Given the description of an element on the screen output the (x, y) to click on. 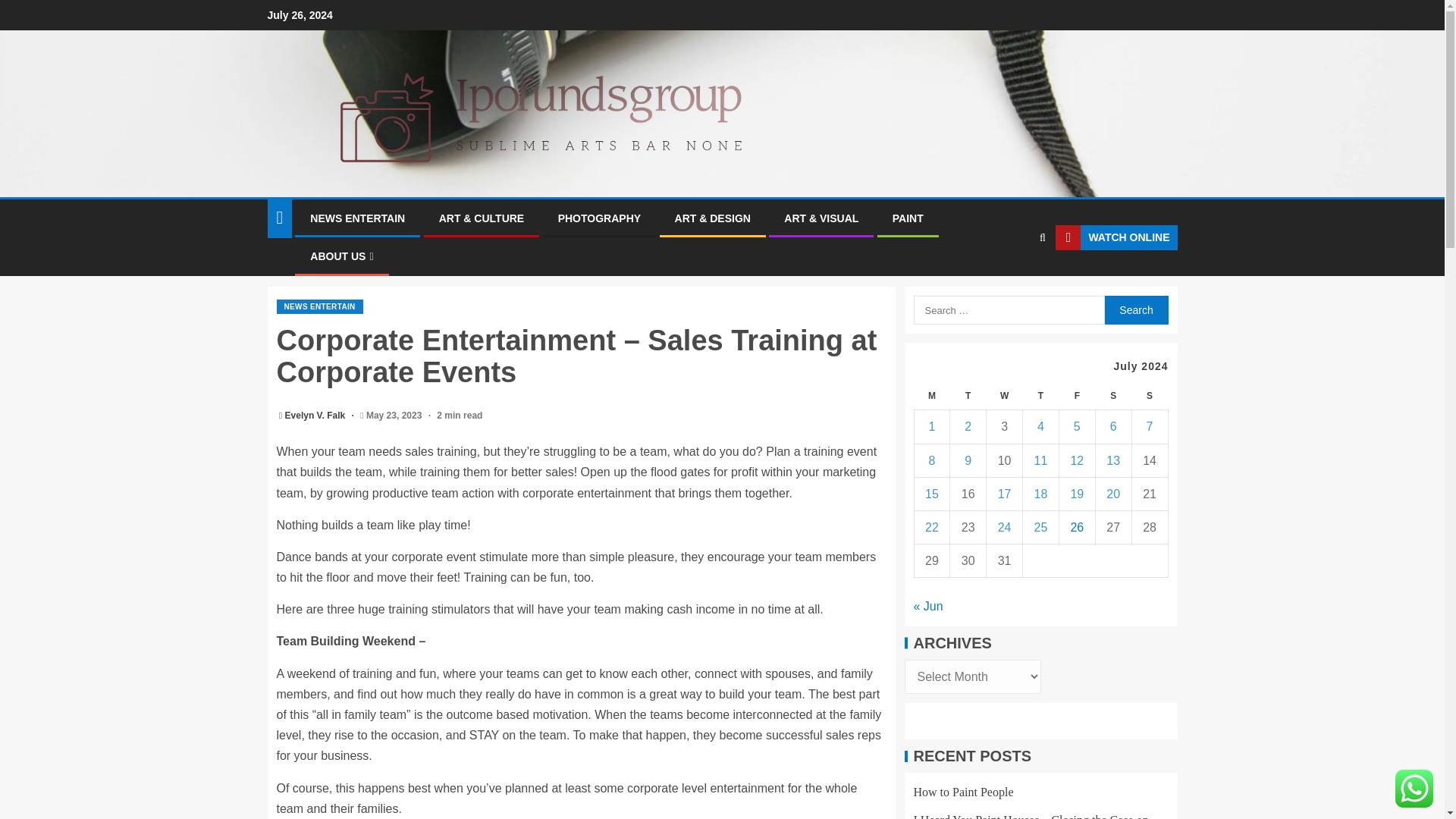
Friday (1076, 396)
Thursday (1041, 396)
Evelyn V. Falk (316, 415)
Search (1135, 309)
WATCH ONLINE (1115, 237)
NEWS ENTERTAIN (357, 218)
Sunday (1149, 396)
PHOTOGRAPHY (598, 218)
Tuesday (968, 396)
PAINT (907, 218)
Search (1135, 309)
Monday (932, 396)
Wednesday (1005, 396)
ABOUT US (341, 256)
Search (1013, 284)
